Given the description of an element on the screen output the (x, y) to click on. 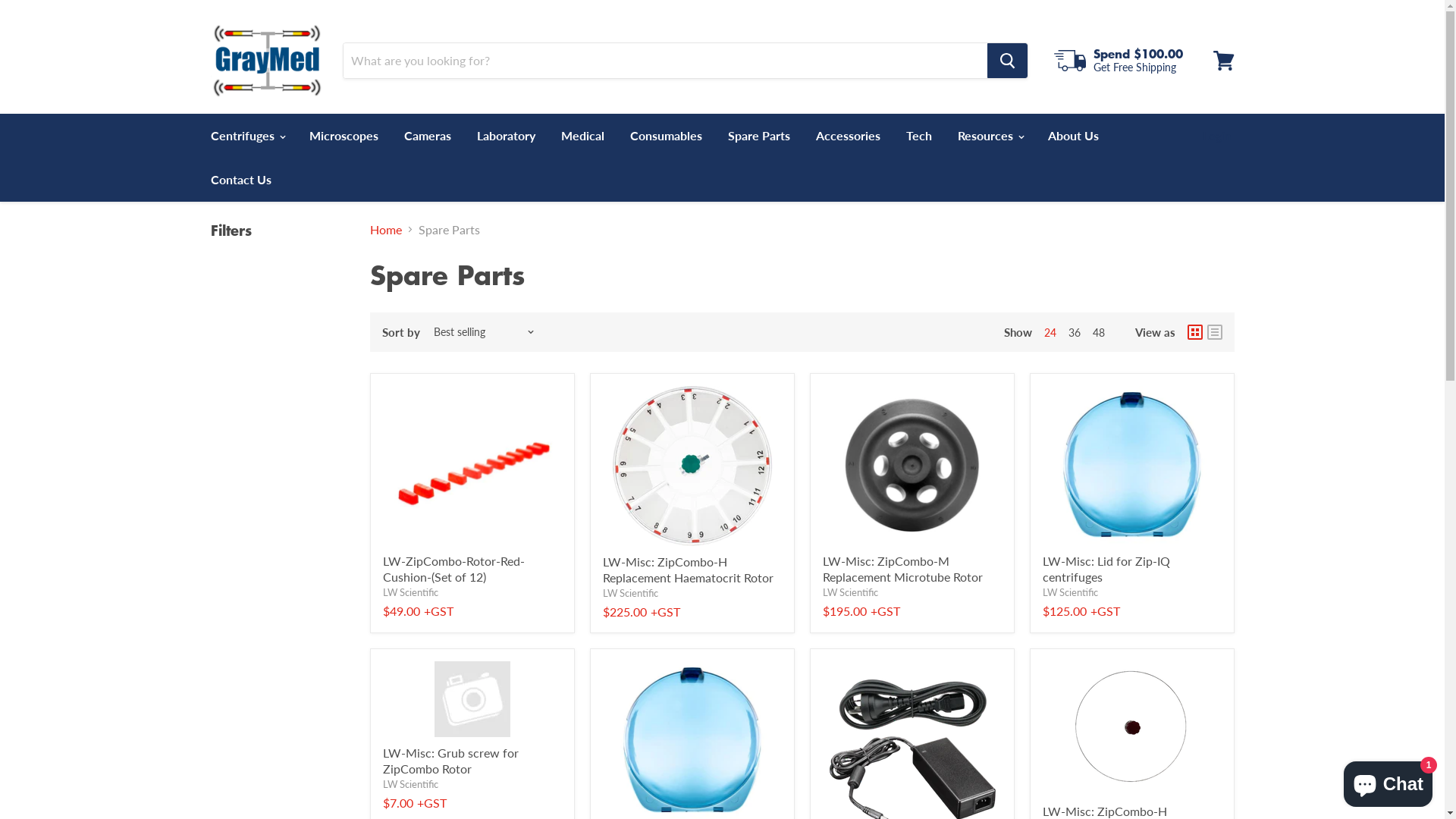
Spare Parts Element type: text (757, 135)
LW-Misc: ZipCombo-M Replacement Microtube Rotor Element type: text (902, 568)
LW-Misc: Grub screw for ZipCombo Rotor Element type: text (449, 760)
Shopify online store chat Element type: hover (1388, 780)
Contact Us Element type: text (240, 179)
LW-Misc: Lid for Zip-IQ centrifuges Element type: text (1105, 568)
24 Element type: text (1049, 332)
View cart Element type: text (1223, 60)
Centrifuges Element type: text (246, 135)
About Us Element type: text (1072, 135)
Home Element type: text (385, 229)
Resources Element type: text (989, 135)
LW Scientific Element type: text (629, 592)
Cameras Element type: text (427, 135)
Tech Element type: text (918, 135)
Microscopes Element type: text (343, 135)
Login Element type: text (1216, 135)
Laboratory Element type: text (505, 135)
LW-ZipCombo-Rotor-Red-Cushion-(Set of 12) Element type: text (453, 568)
LW Scientific Element type: text (409, 784)
48 Element type: text (1098, 332)
LW-Misc: ZipCombo-H Replacement Haematocrit Rotor Element type: text (687, 569)
Consumables Element type: text (665, 135)
36 Element type: text (1073, 332)
LW Scientific Element type: text (1069, 592)
LW Scientific Element type: text (849, 592)
Accessories Element type: text (847, 135)
LW Scientific Element type: text (409, 592)
Medical Element type: text (582, 135)
